Given the description of an element on the screen output the (x, y) to click on. 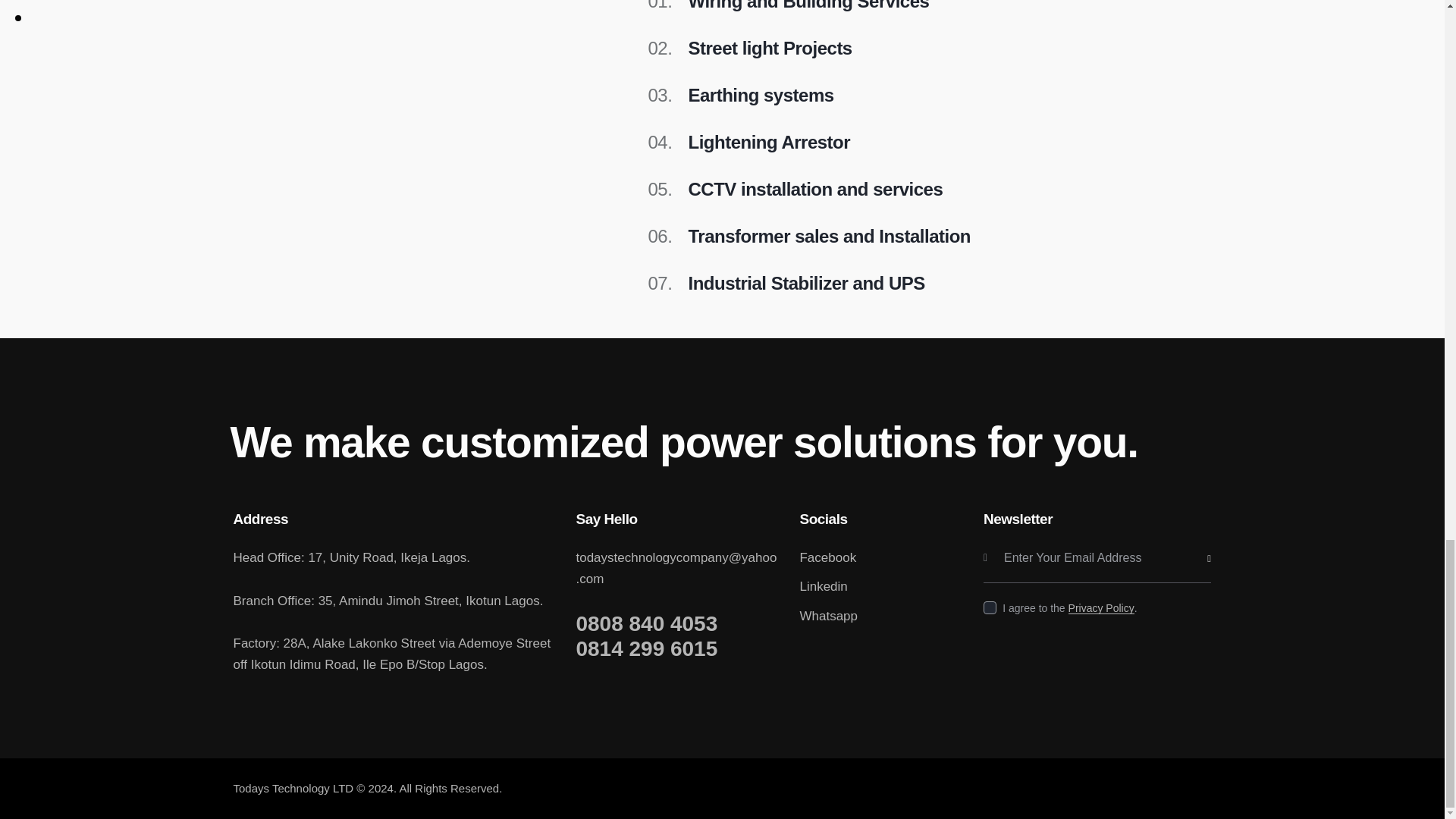
1 (1216, 538)
Facebook (879, 557)
Privacy Policy (1101, 608)
0814 299 6015 (675, 648)
Whatsapp (879, 616)
0808 840 4053 (675, 623)
Linkedin (879, 586)
